Given the description of an element on the screen output the (x, y) to click on. 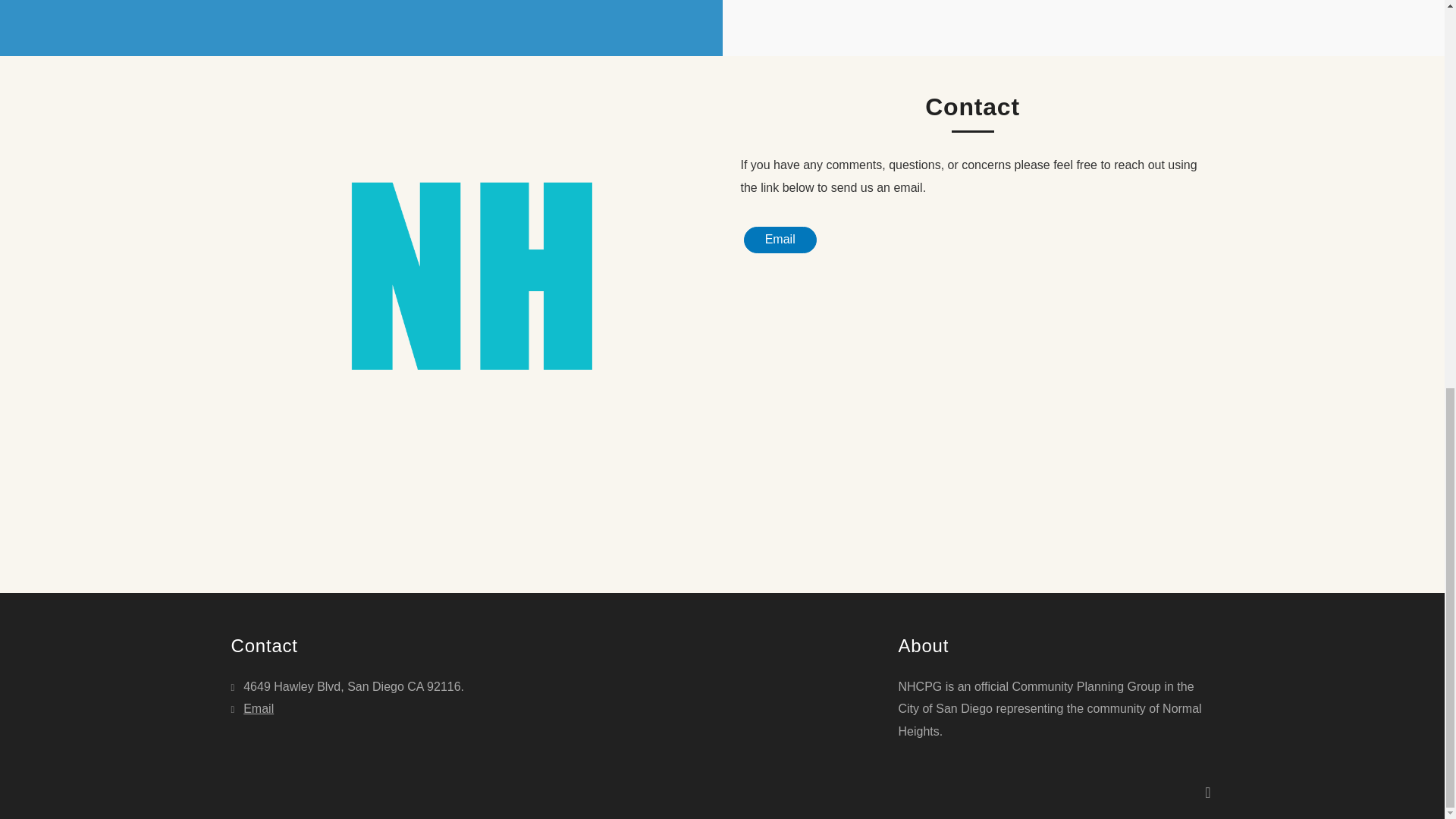
Email (251, 707)
Email (778, 239)
Email (251, 707)
Email (778, 239)
Facebook (1207, 791)
